Given the description of an element on the screen output the (x, y) to click on. 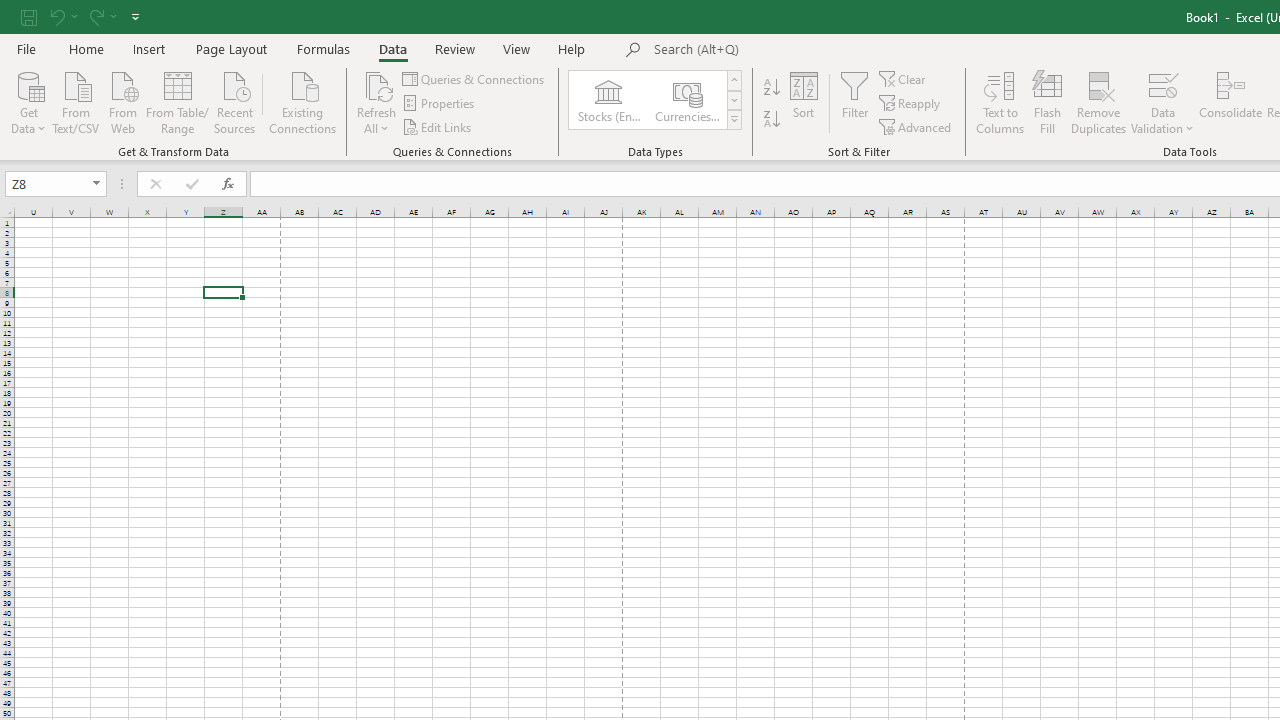
Class: NetUIImage (734, 119)
File Tab (26, 48)
Sort A to Z (772, 87)
Queries & Connections (474, 78)
View (517, 48)
Recent Sources (235, 101)
Refresh All (376, 84)
Text to Columns... (1000, 102)
Help (572, 48)
From Web (122, 101)
Properties (440, 103)
Advanced... (916, 126)
